Given the description of an element on the screen output the (x, y) to click on. 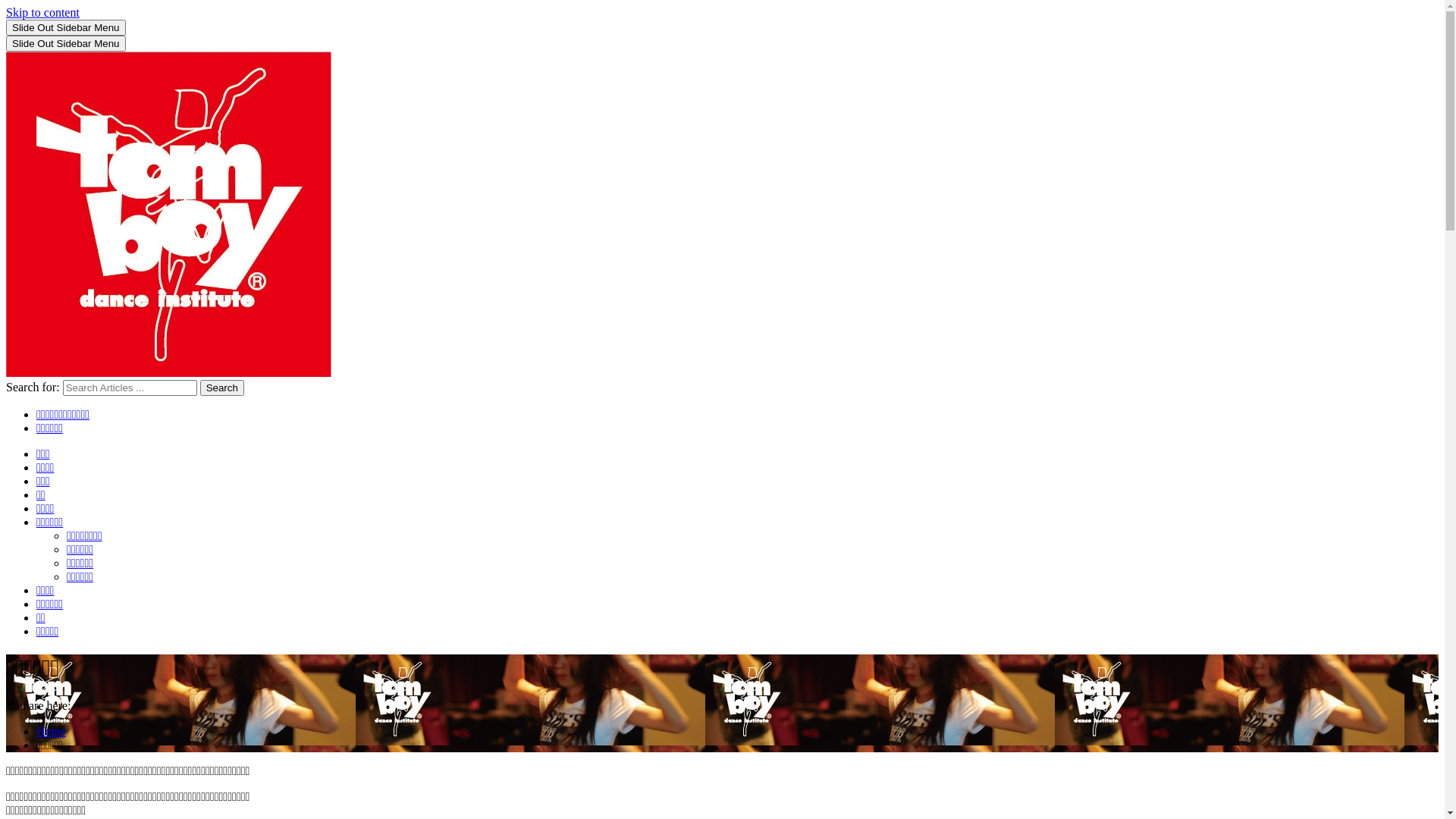
Skip to content Element type: text (42, 12)
Home Element type: text (50, 730)
Search Element type: text (222, 387)
Slide Out Sidebar Menu Element type: text (65, 27)
Slide Out Sidebar Menu Element type: text (65, 43)
